Given the description of an element on the screen output the (x, y) to click on. 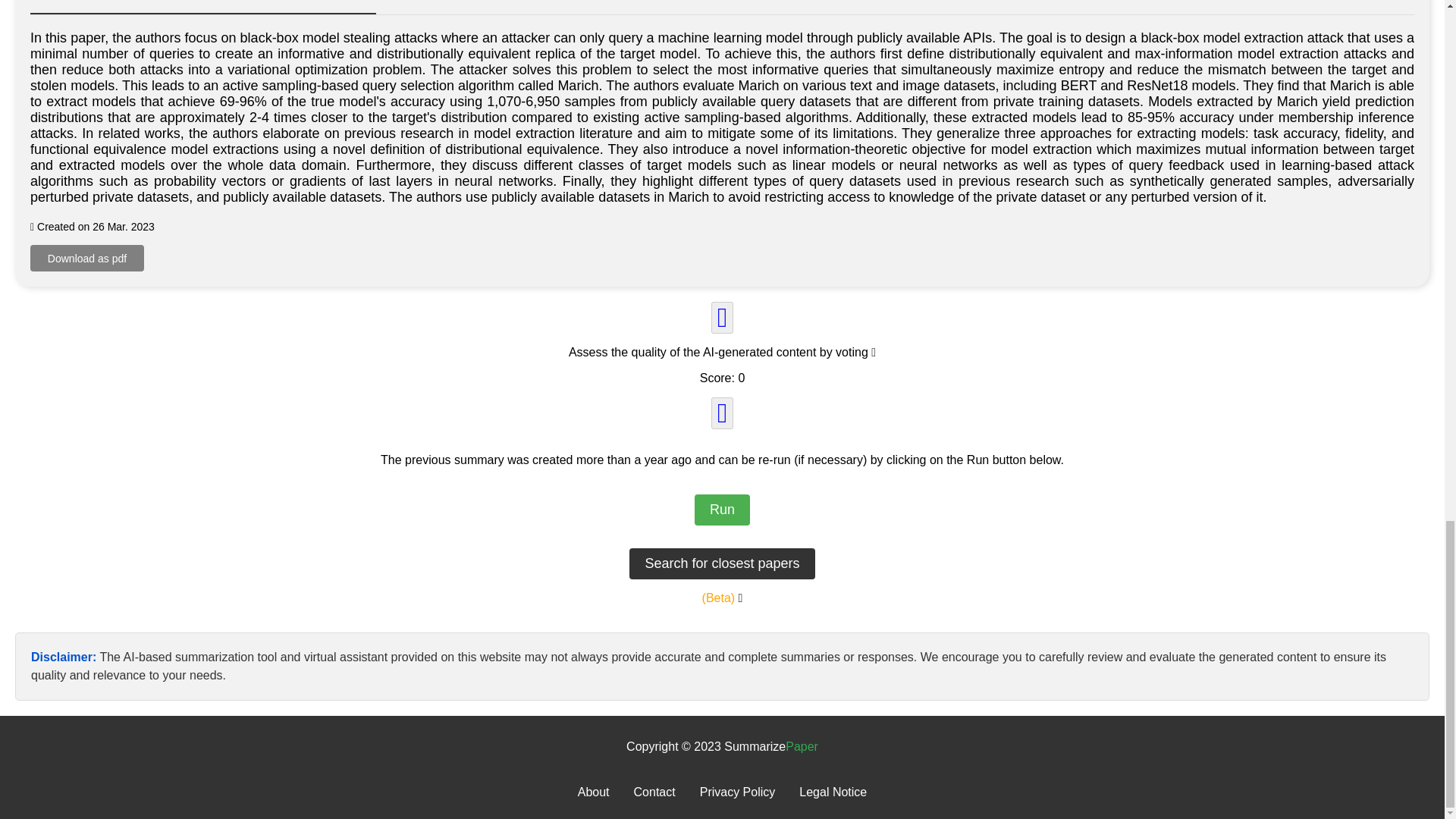
Run (721, 509)
down (722, 413)
up (722, 317)
Download as pdf (87, 257)
About (594, 791)
Search for closest papers (720, 563)
Privacy Policy (738, 791)
Download as pdf (87, 257)
Contact (654, 791)
Run (721, 509)
Legal Notice (832, 791)
Search for closest papers (720, 563)
